Given the description of an element on the screen output the (x, y) to click on. 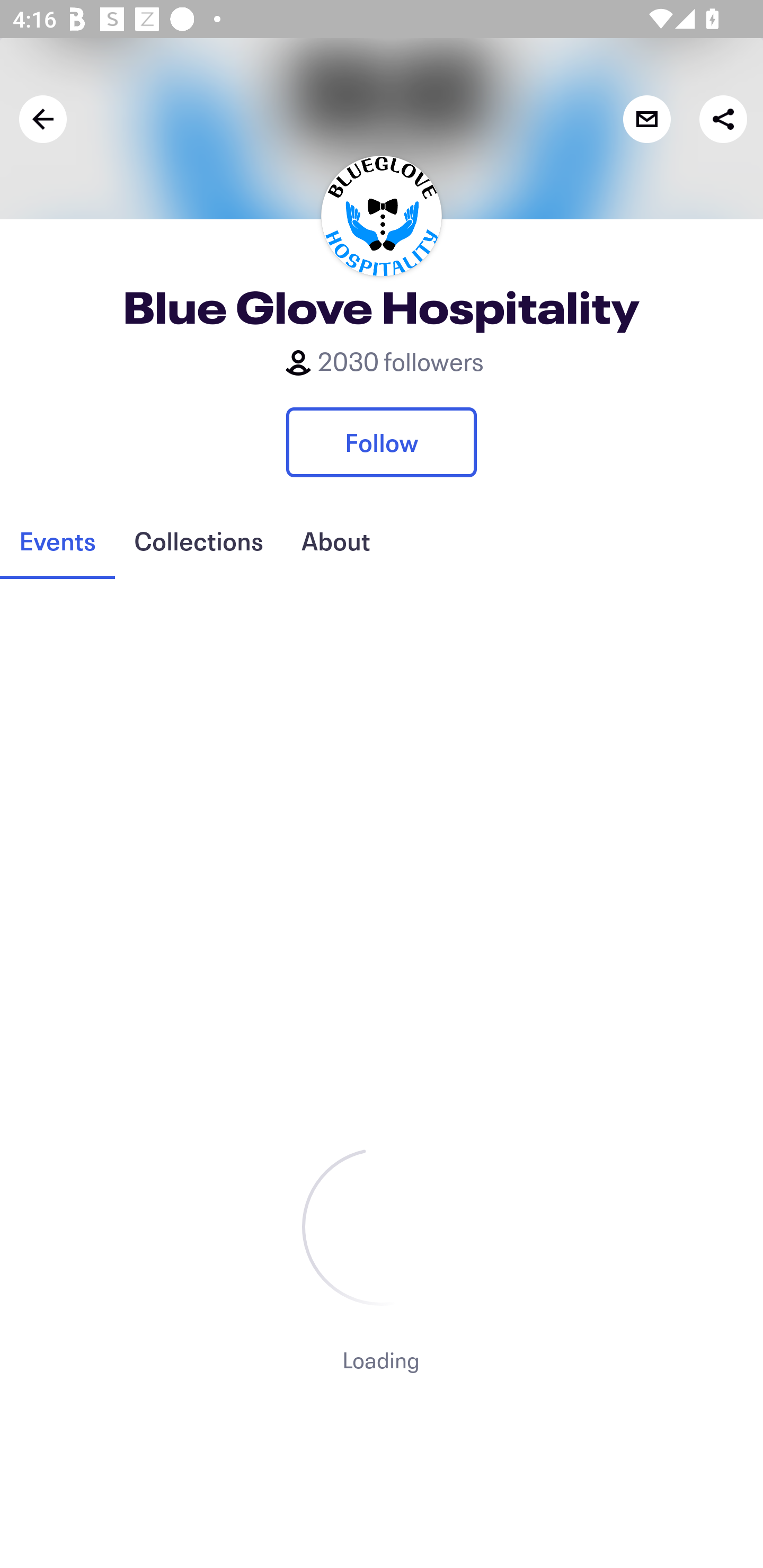
Back navigation arrow (43, 118)
Contact organizer (646, 118)
Share with friends (722, 118)
Follow (381, 441)
Collections (198, 540)
About (335, 540)
